Given the description of an element on the screen output the (x, y) to click on. 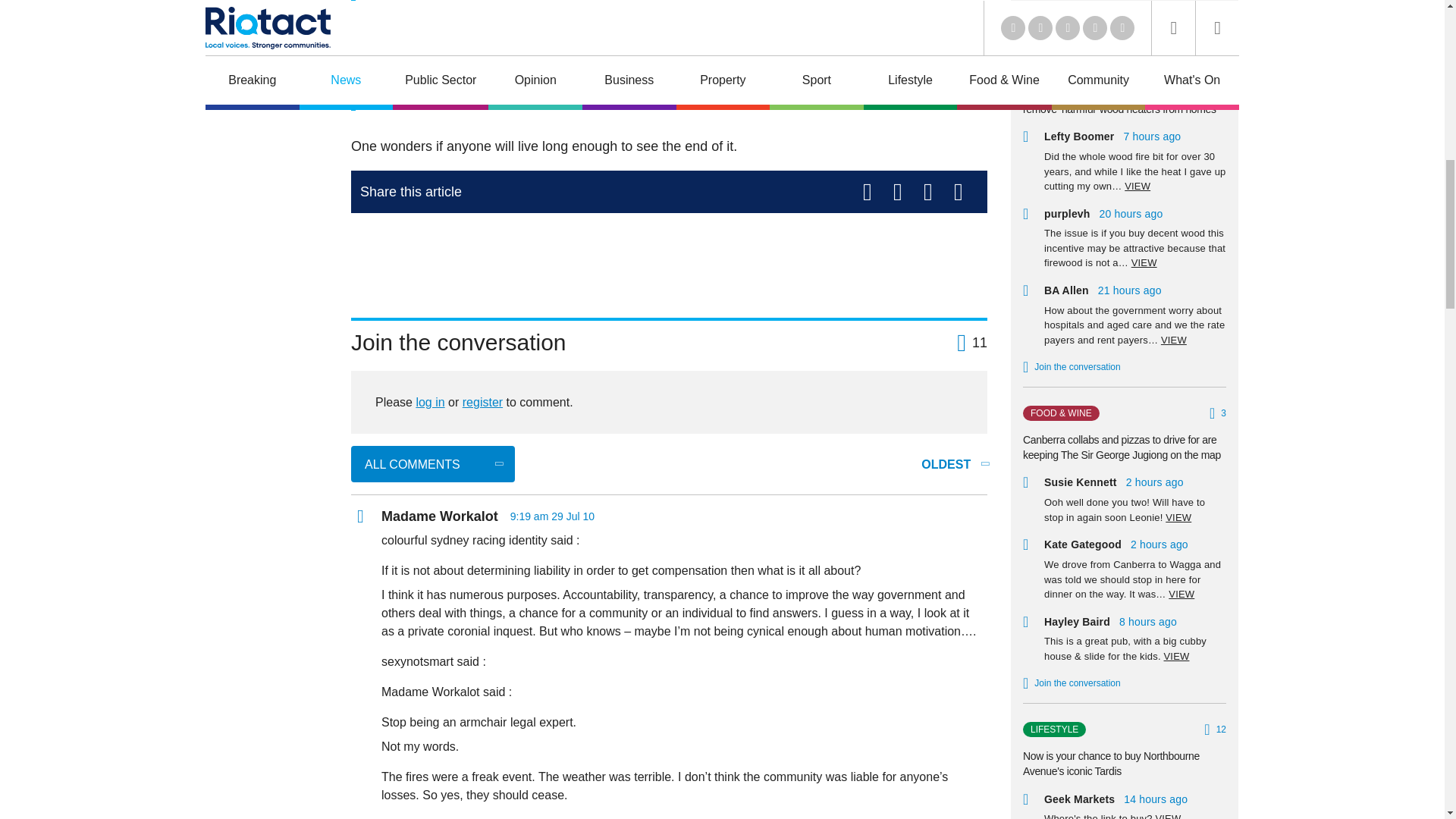
3rd party ad content (668, 259)
3rd party ad content (265, 33)
